Given the description of an element on the screen output the (x, y) to click on. 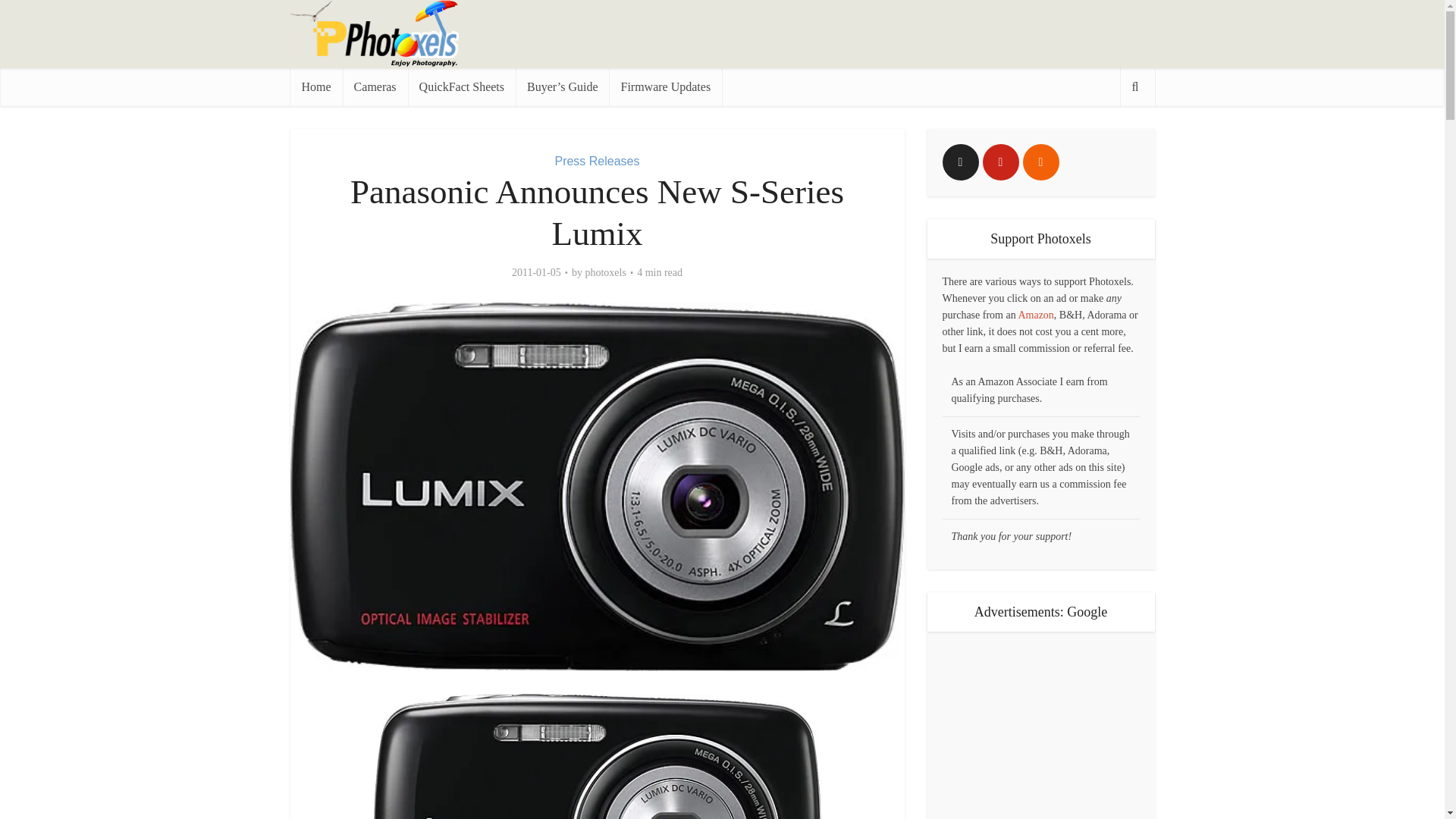
Advertisement (878, 33)
Press Releases (596, 160)
QuickFact Sheets (461, 86)
photoxels (605, 273)
Firmware Updates (665, 86)
Cameras (374, 86)
Home (315, 86)
